Given the description of an element on the screen output the (x, y) to click on. 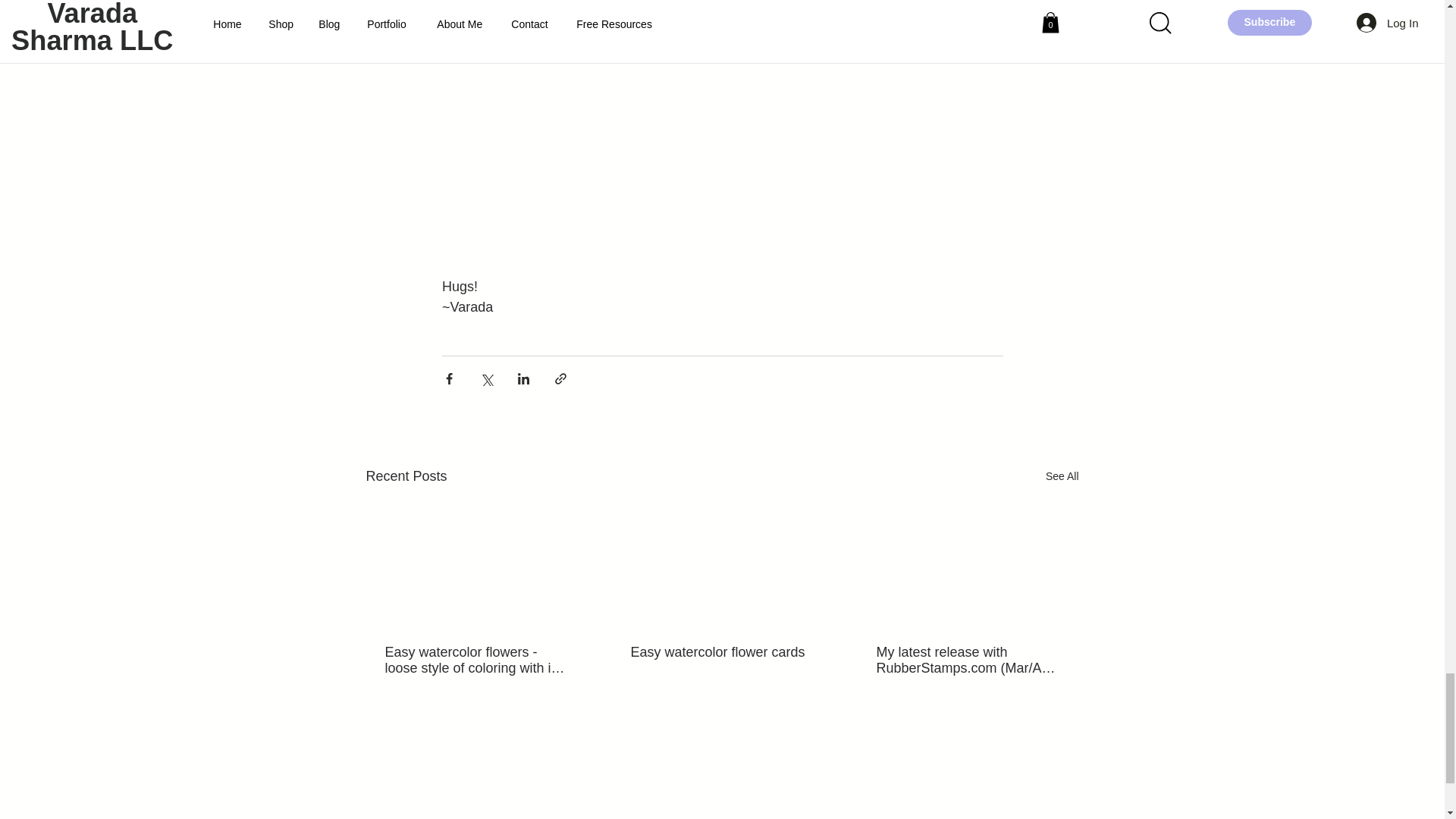
Easy watercolor flower cards (721, 652)
remote content (722, 117)
See All (1061, 476)
